Given the description of an element on the screen output the (x, y) to click on. 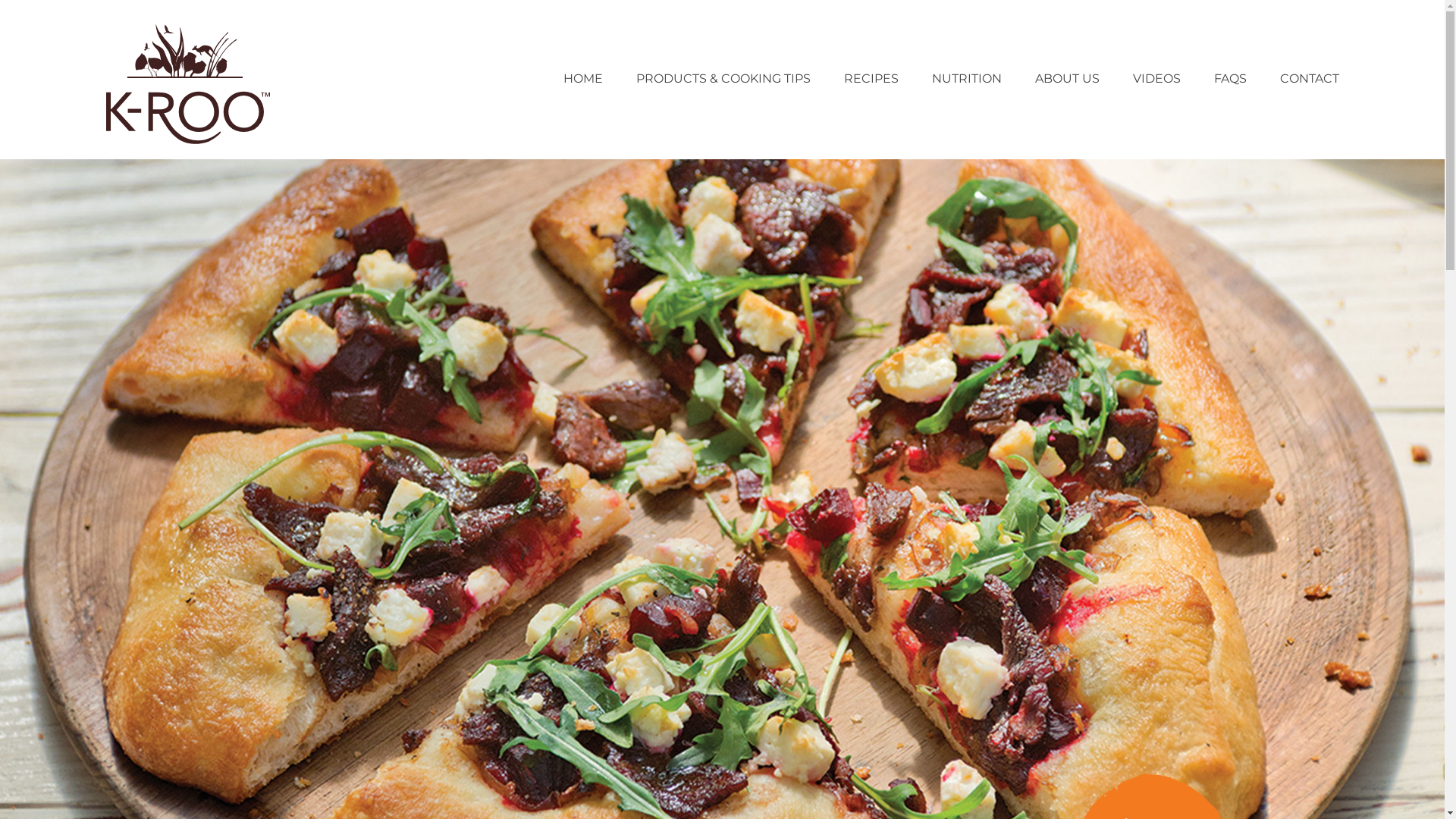
CONTACT Element type: text (1309, 78)
VIDEOS Element type: text (1156, 78)
PRODUCTS & COOKING TIPS Element type: text (722, 78)
ABOUT US Element type: text (1066, 78)
RECIPES Element type: text (870, 78)
NUTRITION Element type: text (966, 78)
K-ROO Element type: text (189, 139)
FAQS Element type: text (1229, 78)
HOME Element type: text (582, 78)
